Given the description of an element on the screen output the (x, y) to click on. 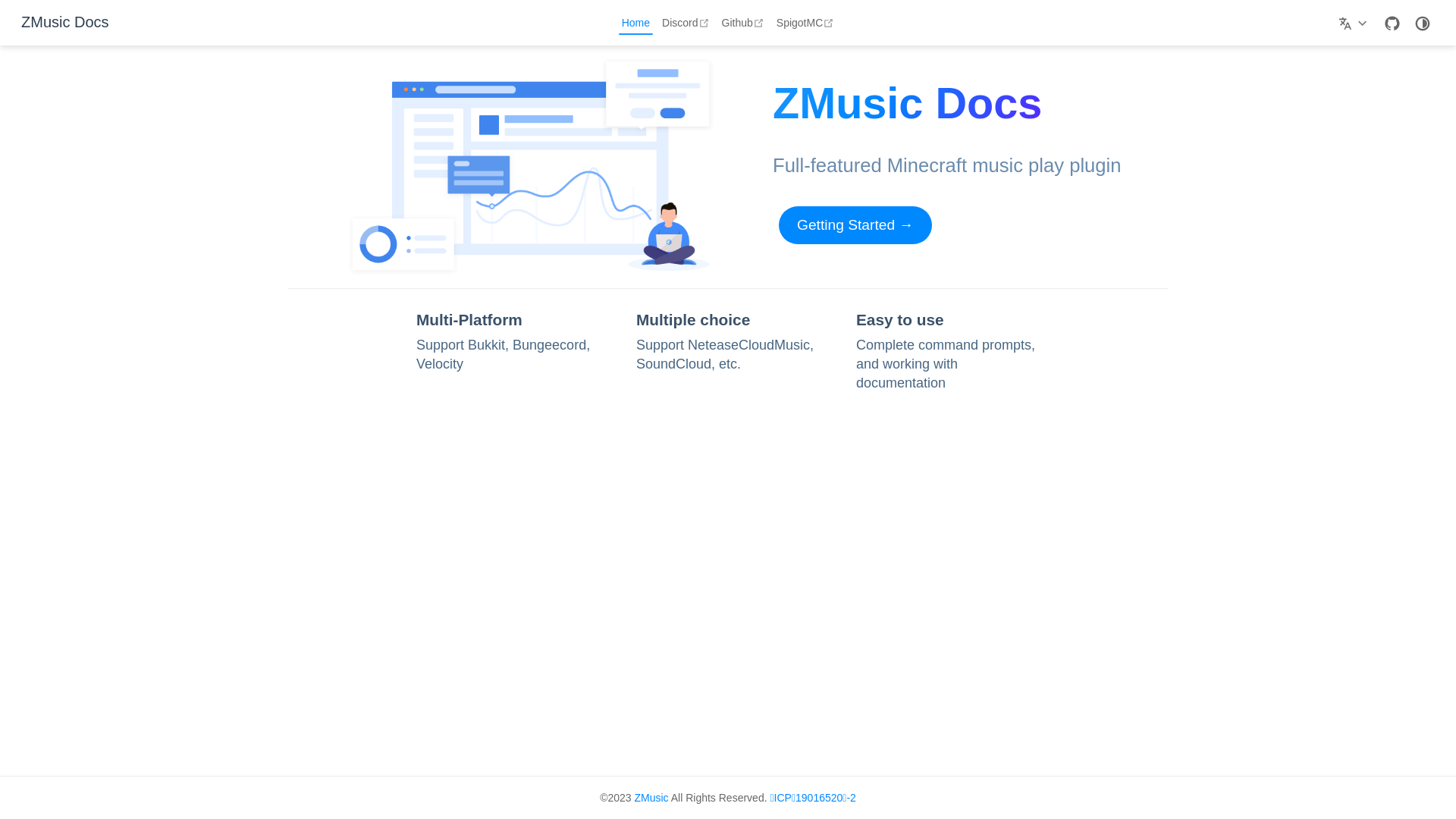
ZMusic Docs Element type: text (65, 22)
SpigotMC
open in new window Element type: text (805, 22)
Discord
open in new window Element type: text (685, 22)
Github
open in new window Element type: text (742, 22)
Skip to main content Element type: text (2, 2)
ZMusic Element type: text (650, 797)
Home Element type: text (635, 22)
